Given the description of an element on the screen output the (x, y) to click on. 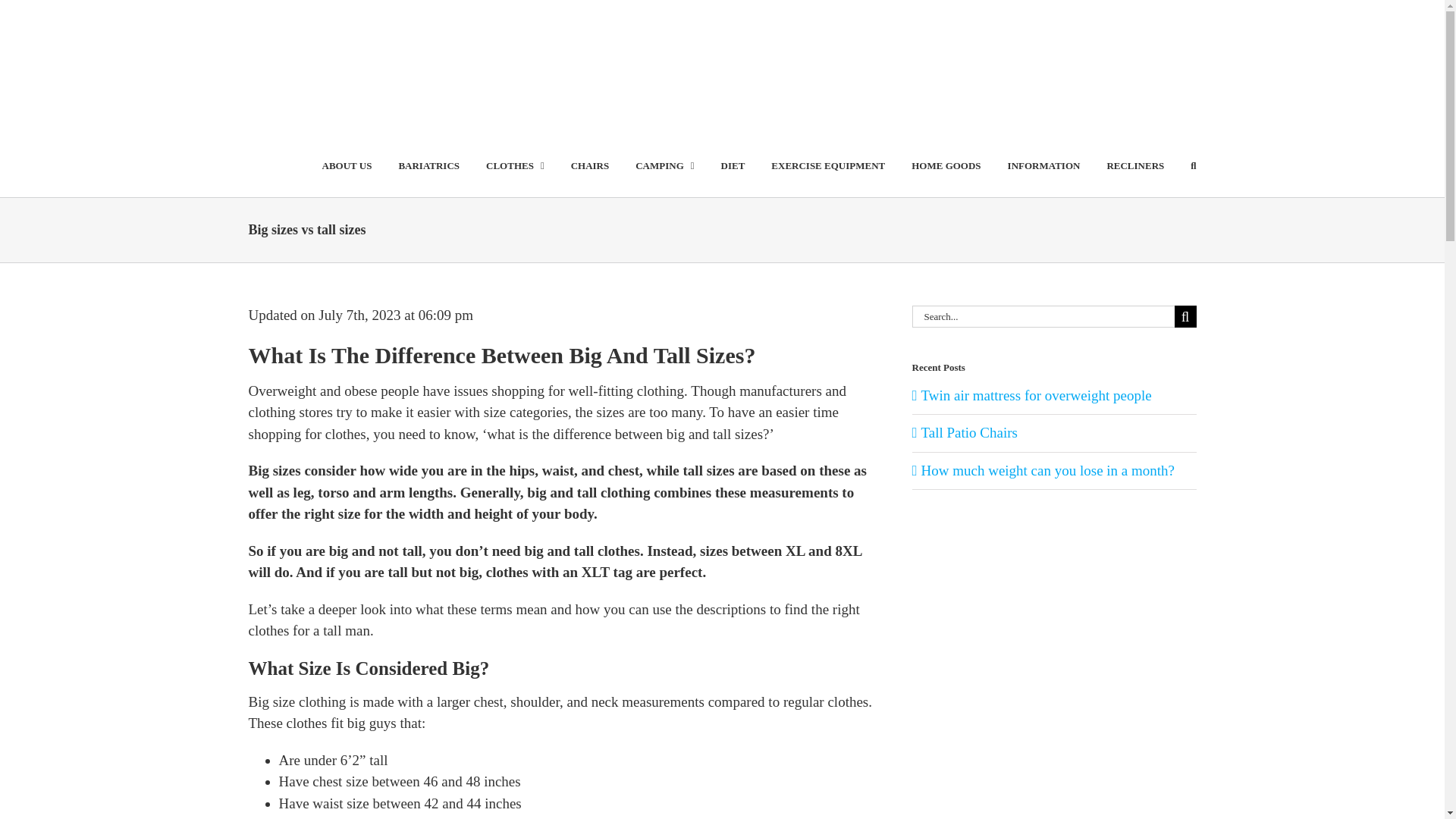
CLOTHES (515, 165)
HOME GOODS (945, 165)
RECLINERS (1134, 165)
INFORMATION (1043, 165)
BARIATRICS (428, 165)
EXERCISE EQUIPMENT (828, 165)
CAMPING (664, 165)
